Given the description of an element on the screen output the (x, y) to click on. 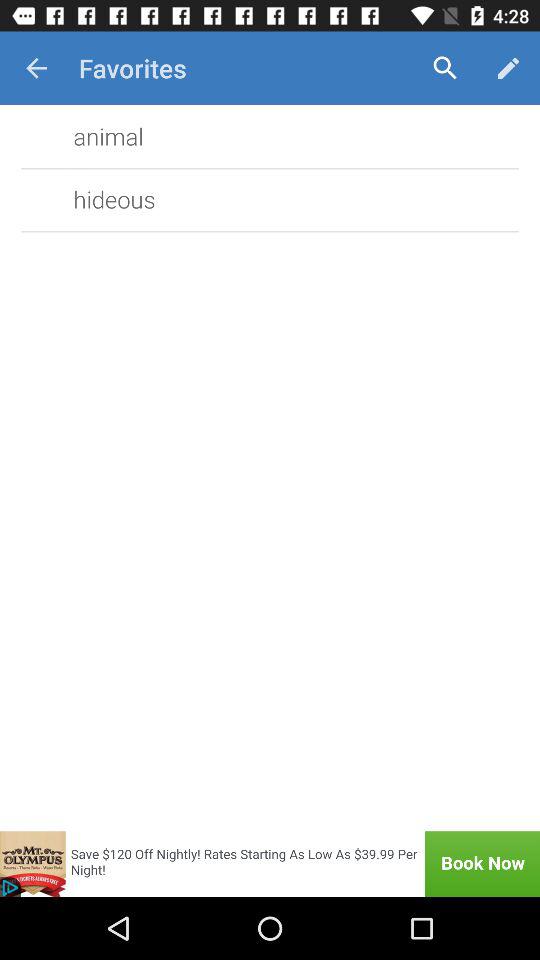
press item next to the favorites item (444, 67)
